Given the description of an element on the screen output the (x, y) to click on. 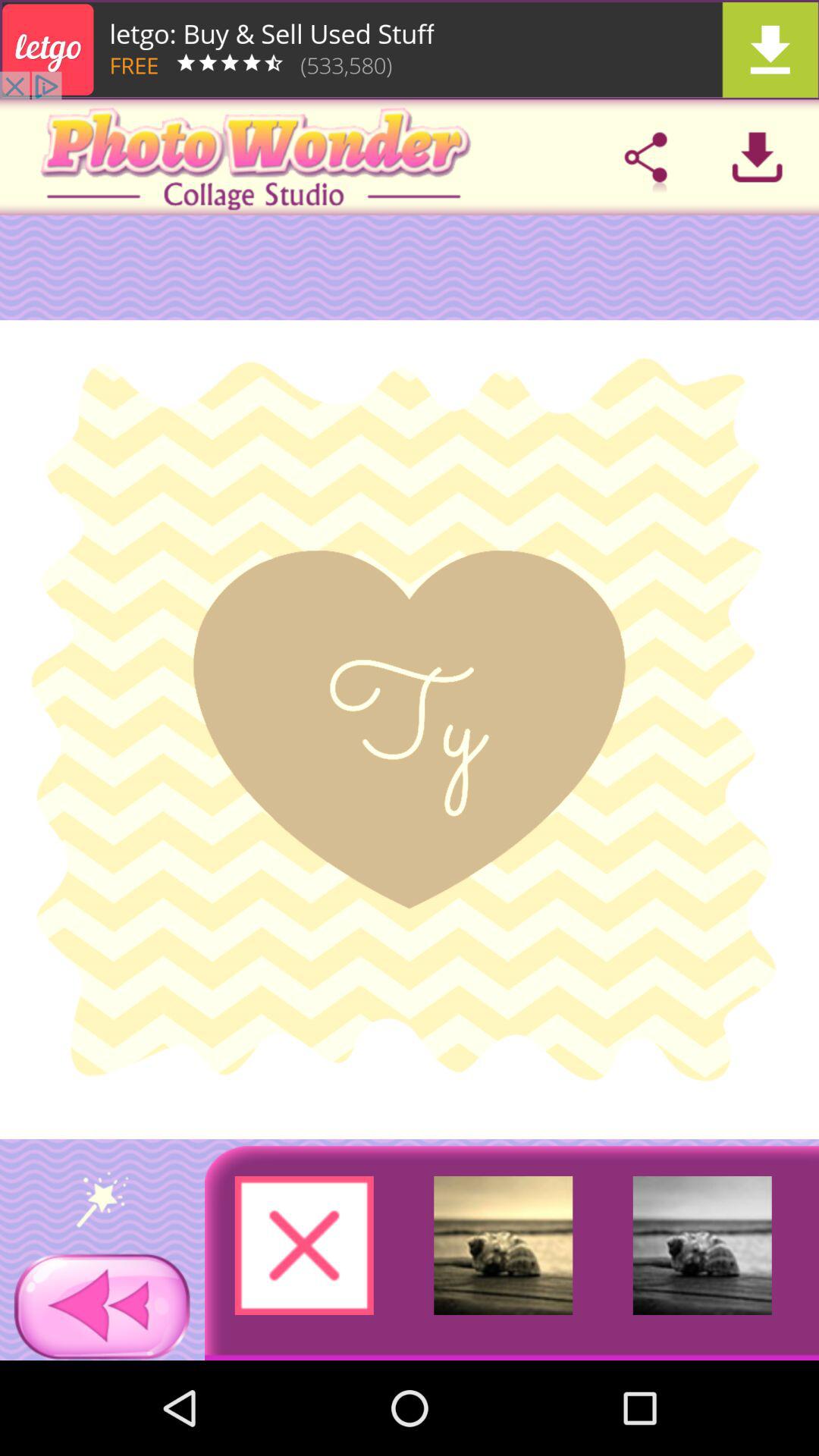
download an app (757, 157)
